Given the description of an element on the screen output the (x, y) to click on. 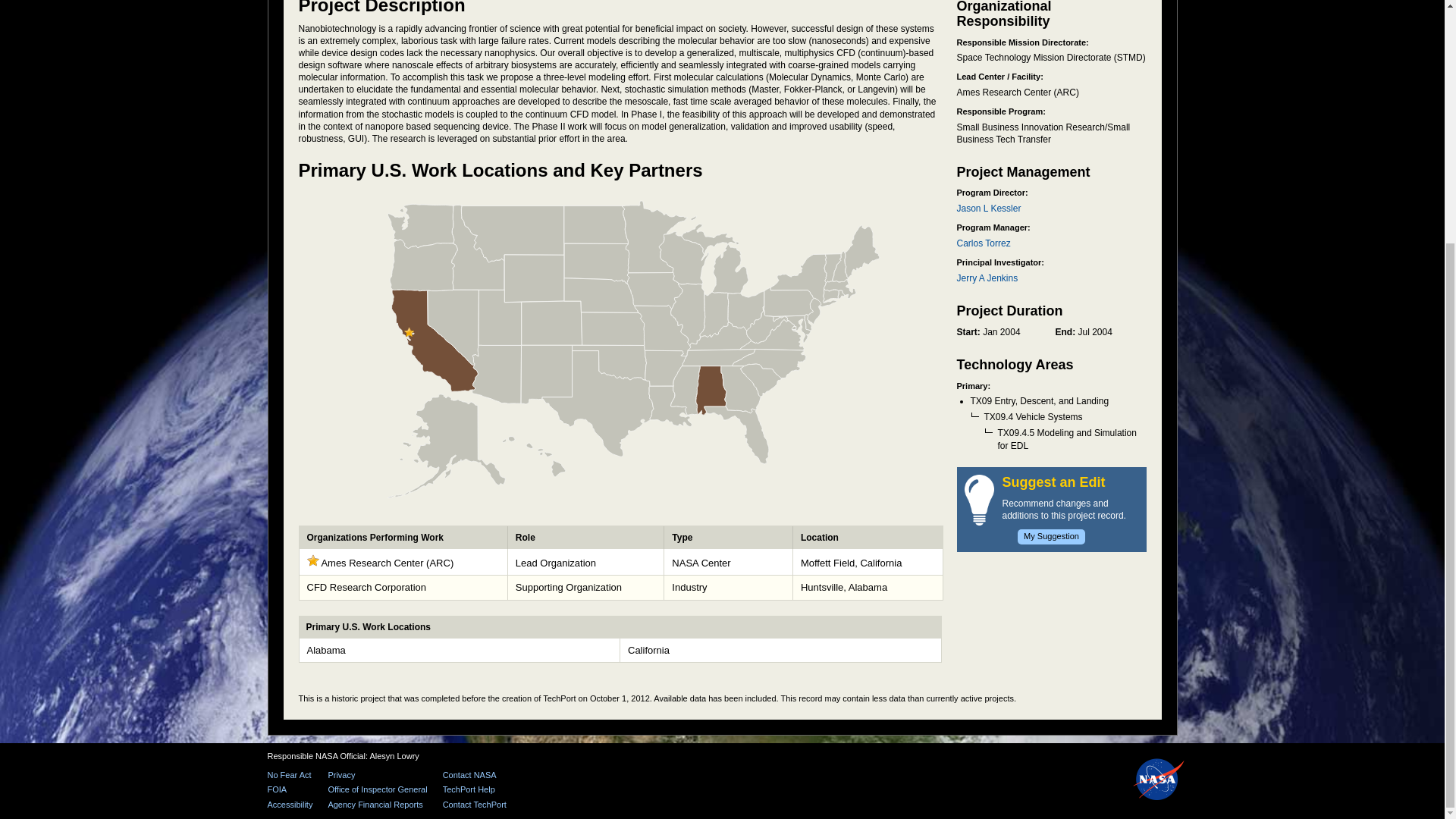
My Suggestion (1050, 536)
Privacy (376, 775)
Accessibility (289, 804)
Office of Inspector General (376, 789)
Contact TechPort (474, 804)
No Fear Act (289, 775)
Jason L Kessler (989, 208)
Carlos Torrez (983, 243)
FOIA (289, 789)
Jerry A Jenkins (986, 277)
TechPort Help (474, 789)
Agency Financial Reports (376, 804)
Contact NASA (474, 775)
